Given the description of an element on the screen output the (x, y) to click on. 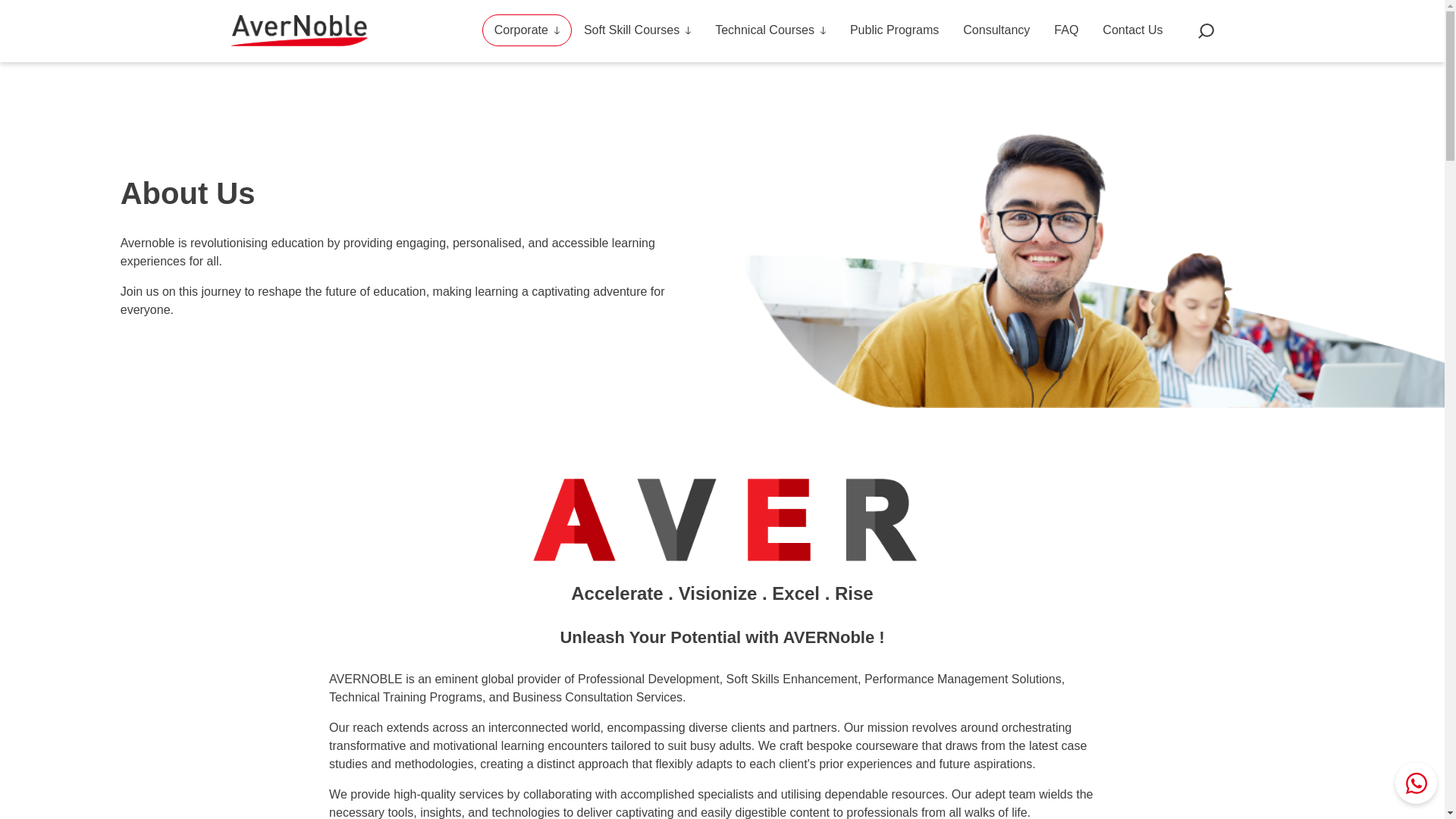
Contact Us (1132, 29)
Home (304, 30)
FAQ (1066, 29)
Consultancy (996, 29)
Skip to main content (60, 69)
Public Programs (894, 29)
